Given the description of an element on the screen output the (x, y) to click on. 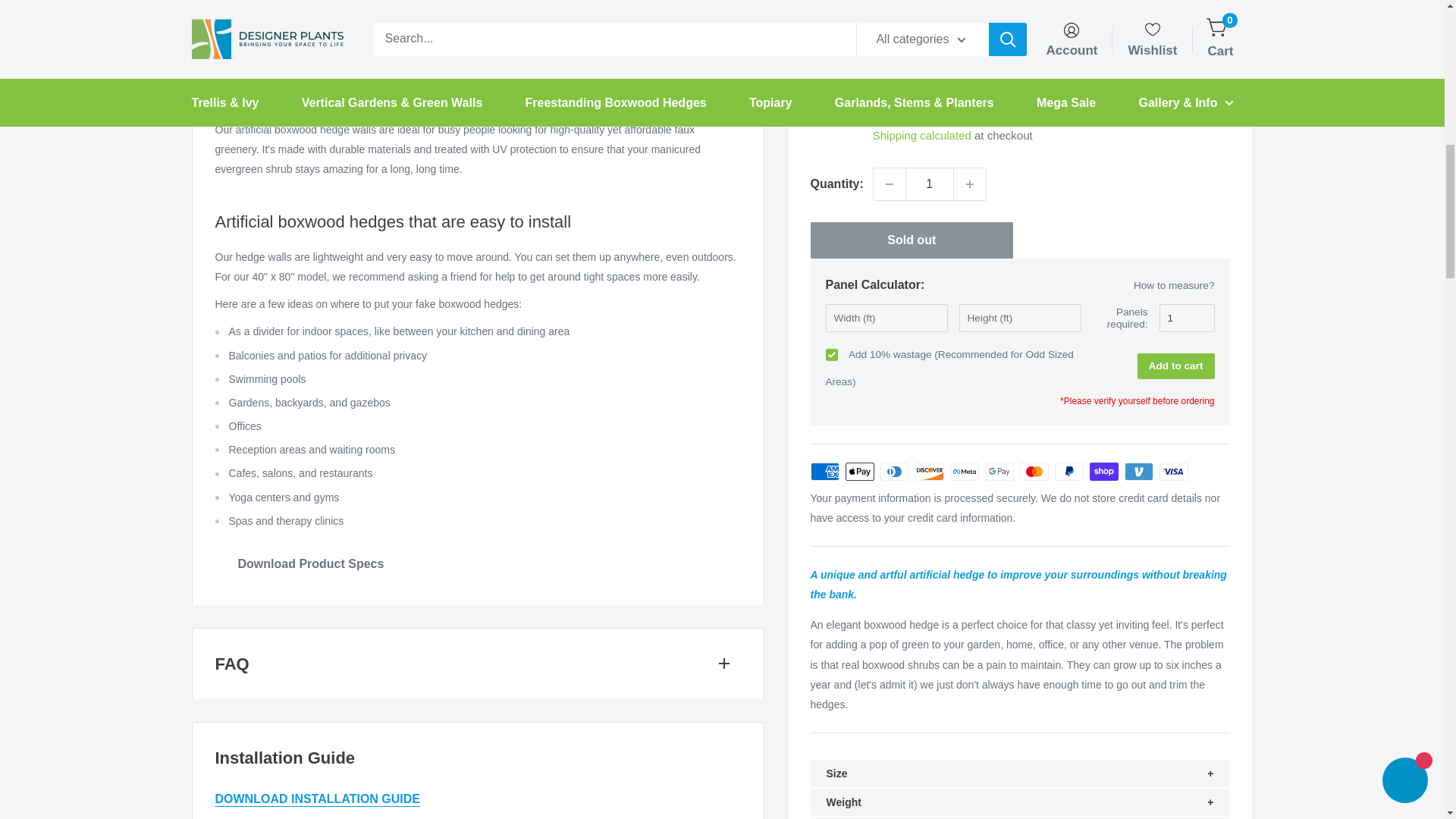
Decrease quantity by 1 (889, 56)
Increase quantity by 1 (969, 56)
1 (929, 56)
on (831, 226)
1 (1186, 189)
